Given the description of an element on the screen output the (x, y) to click on. 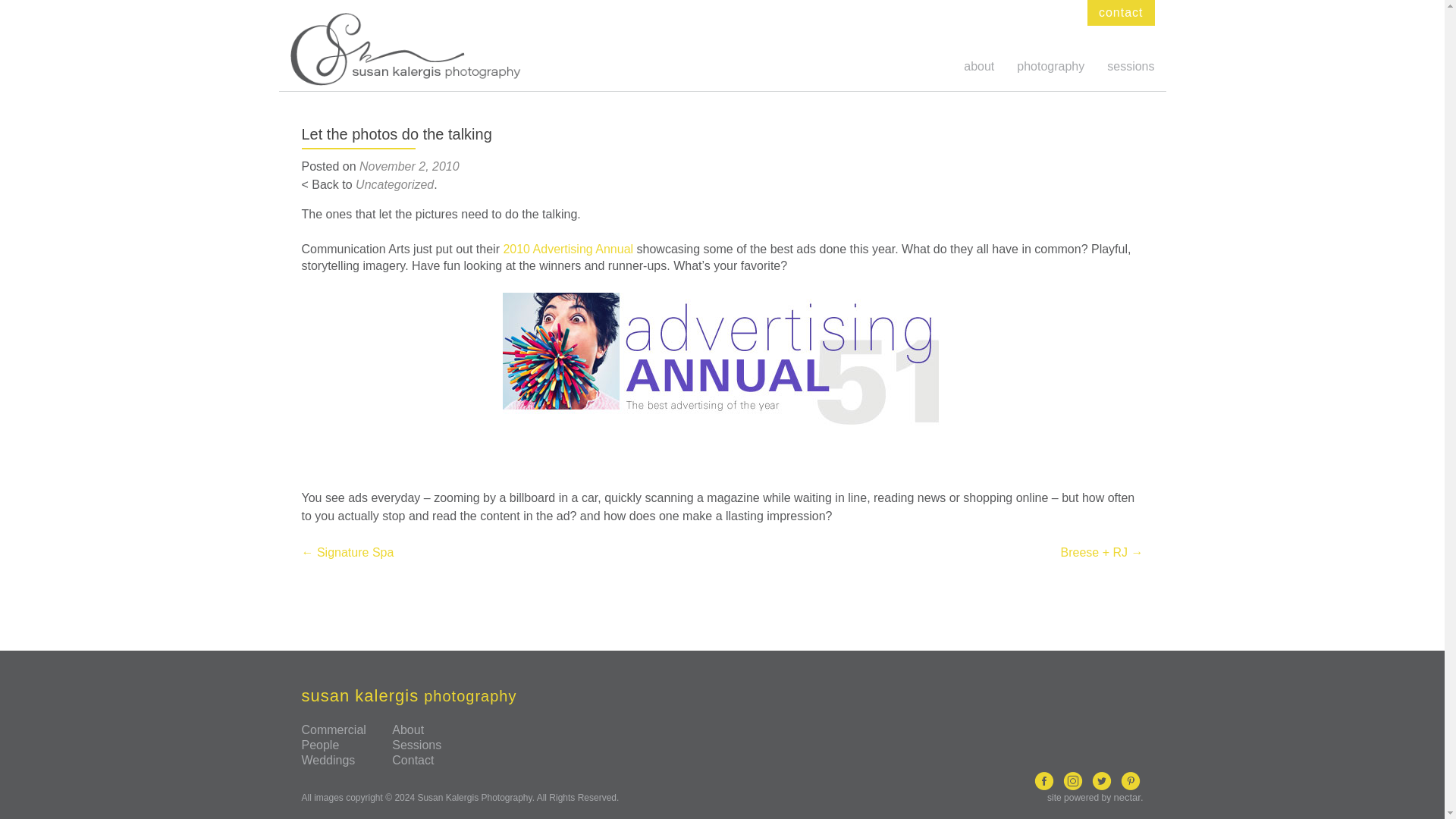
about (978, 66)
November 2, 2010 (409, 165)
Skip to content (1003, 9)
Uncategorized (394, 184)
Contact (412, 759)
2010 Advertising Annual (567, 248)
Commercial (333, 729)
contact (1120, 12)
sessions (1130, 66)
Sessions (416, 744)
